Given the description of an element on the screen output the (x, y) to click on. 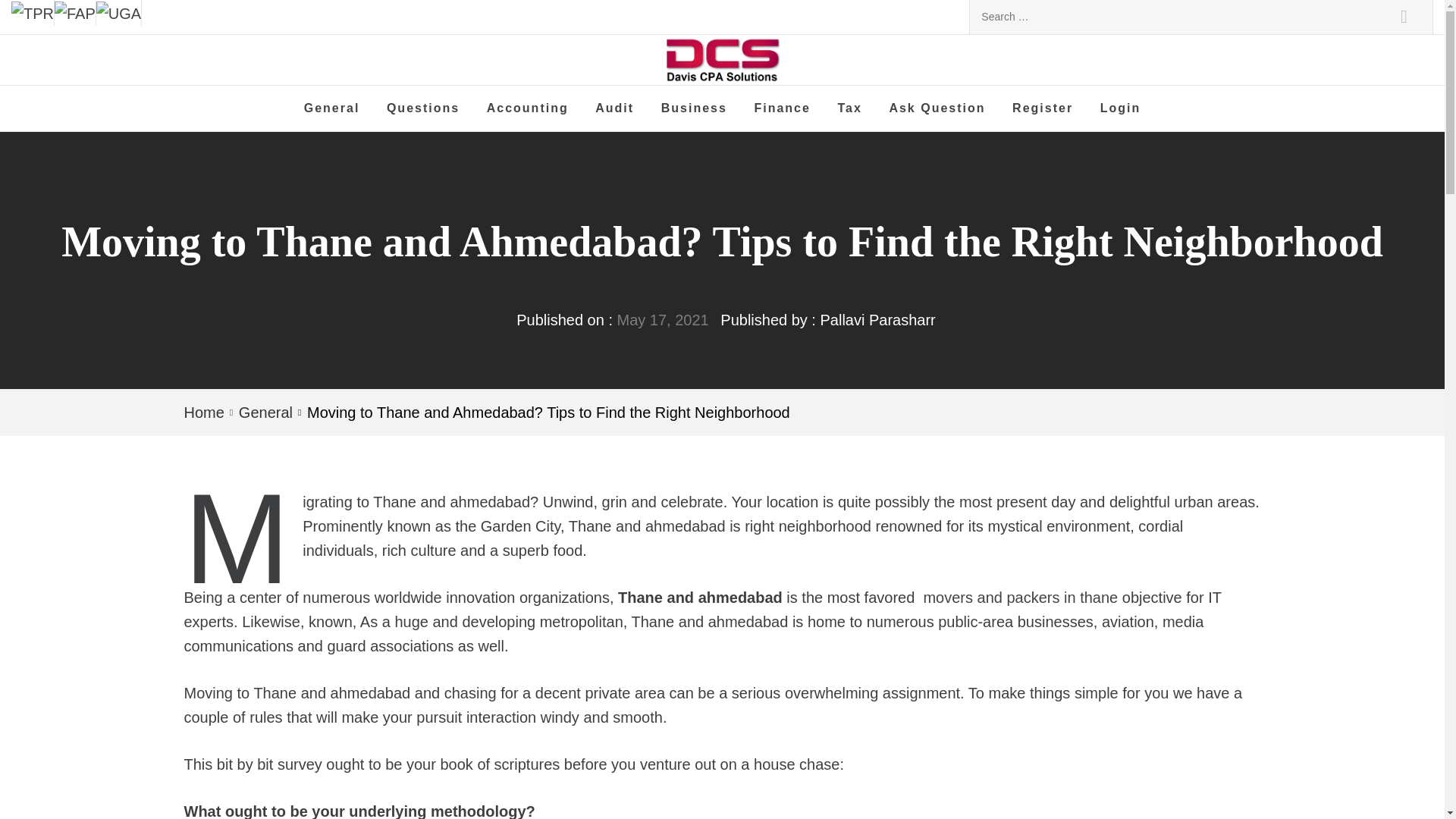
Business (693, 108)
Search (1403, 17)
Pallavi Parasharr (876, 320)
Questions (422, 108)
Tax (848, 108)
General (264, 412)
General (331, 108)
Home (205, 412)
movers and packers in thane (1020, 597)
